Given the description of an element on the screen output the (x, y) to click on. 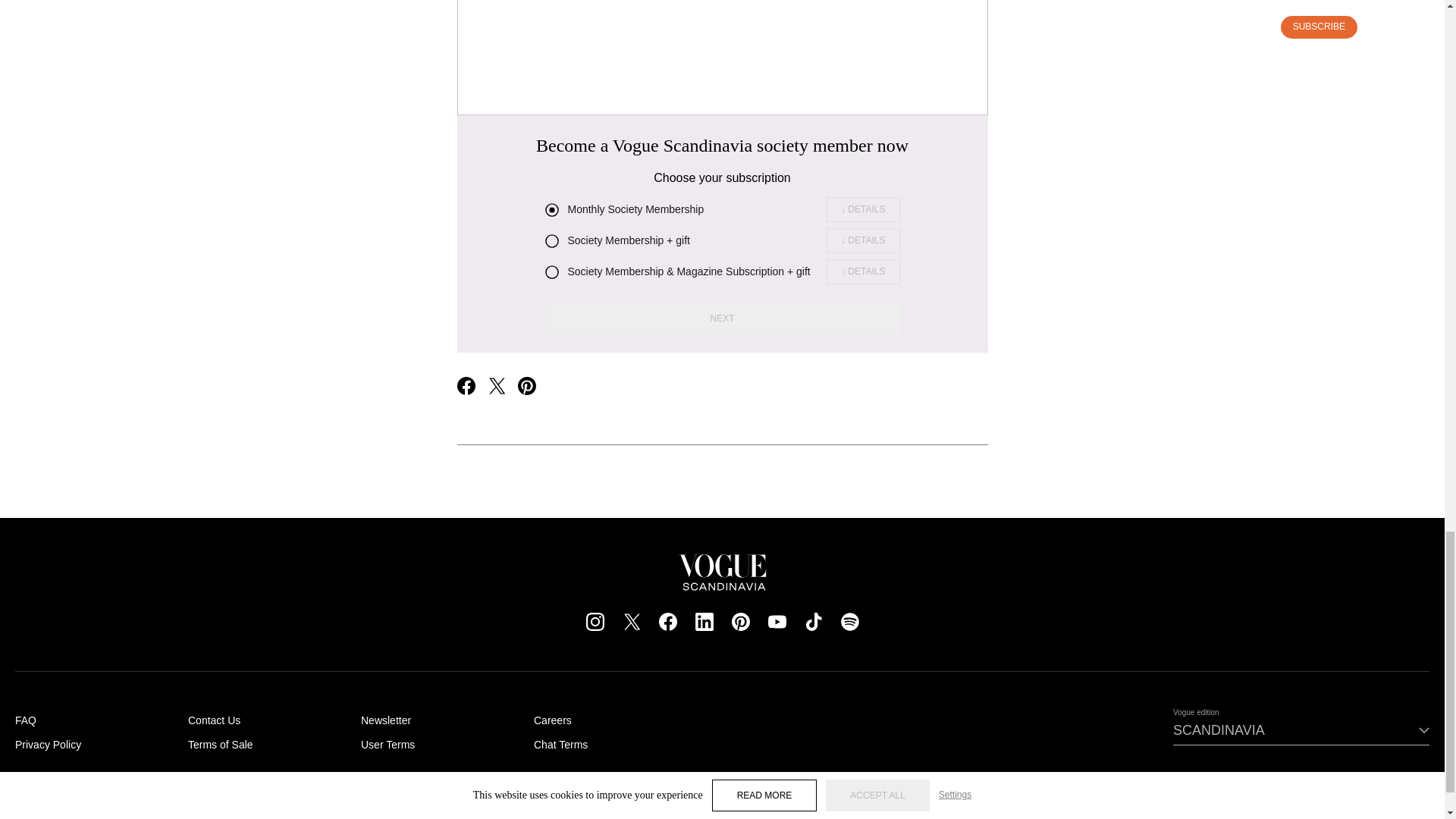
Privacy Policy (47, 744)
Careers (553, 720)
FAQ (25, 720)
Chat Terms (561, 744)
Newsletter (385, 720)
Terms of Sale (220, 744)
User Terms (387, 744)
NEXT (721, 318)
Contact Us (213, 720)
